Given the description of an element on the screen output the (x, y) to click on. 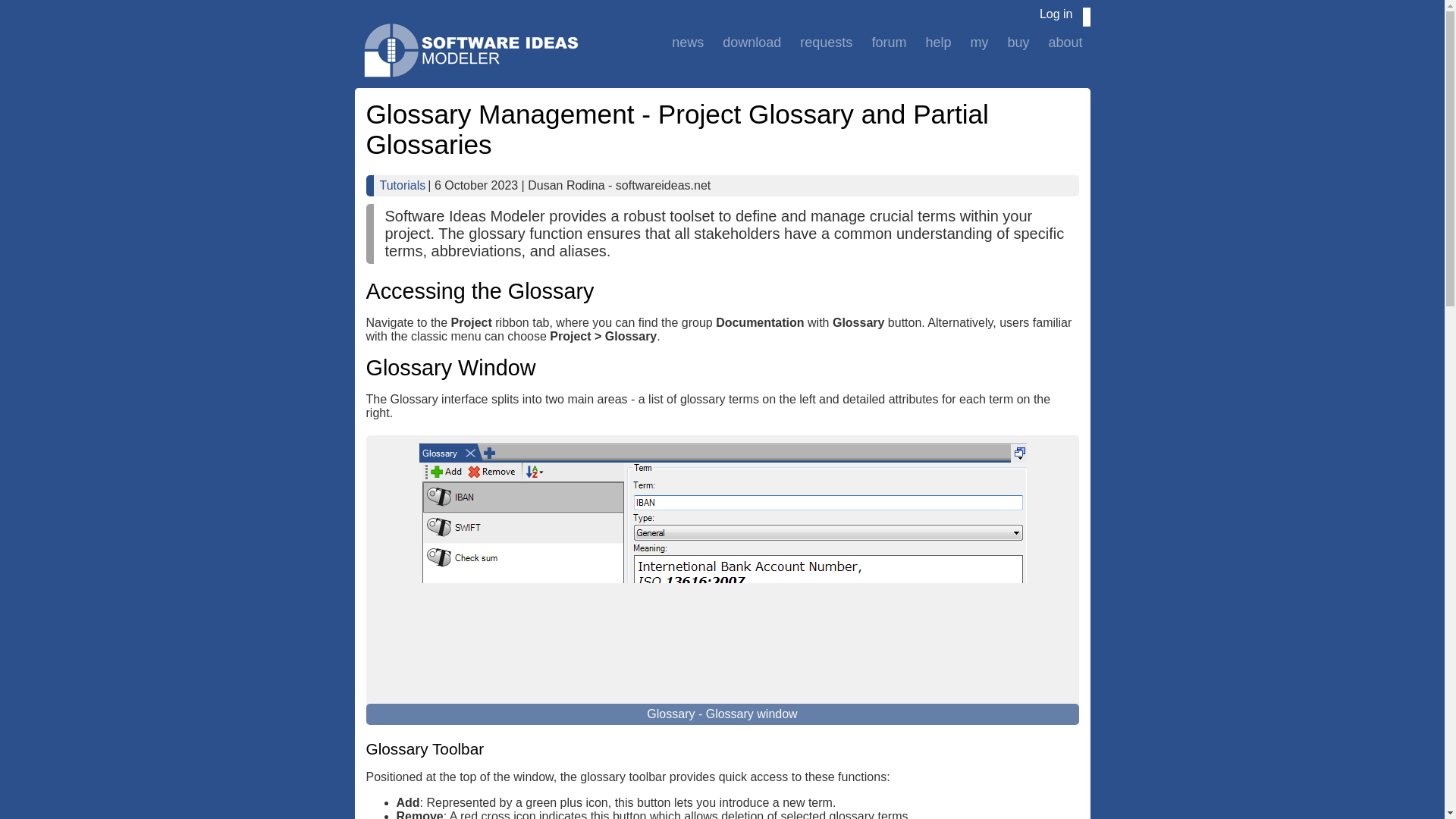
help (937, 42)
my (978, 42)
download (751, 42)
news (687, 42)
Tutorials (402, 185)
about (1065, 42)
buy (1017, 42)
Log in (1055, 13)
forum (888, 42)
requests (826, 42)
